Given the description of an element on the screen output the (x, y) to click on. 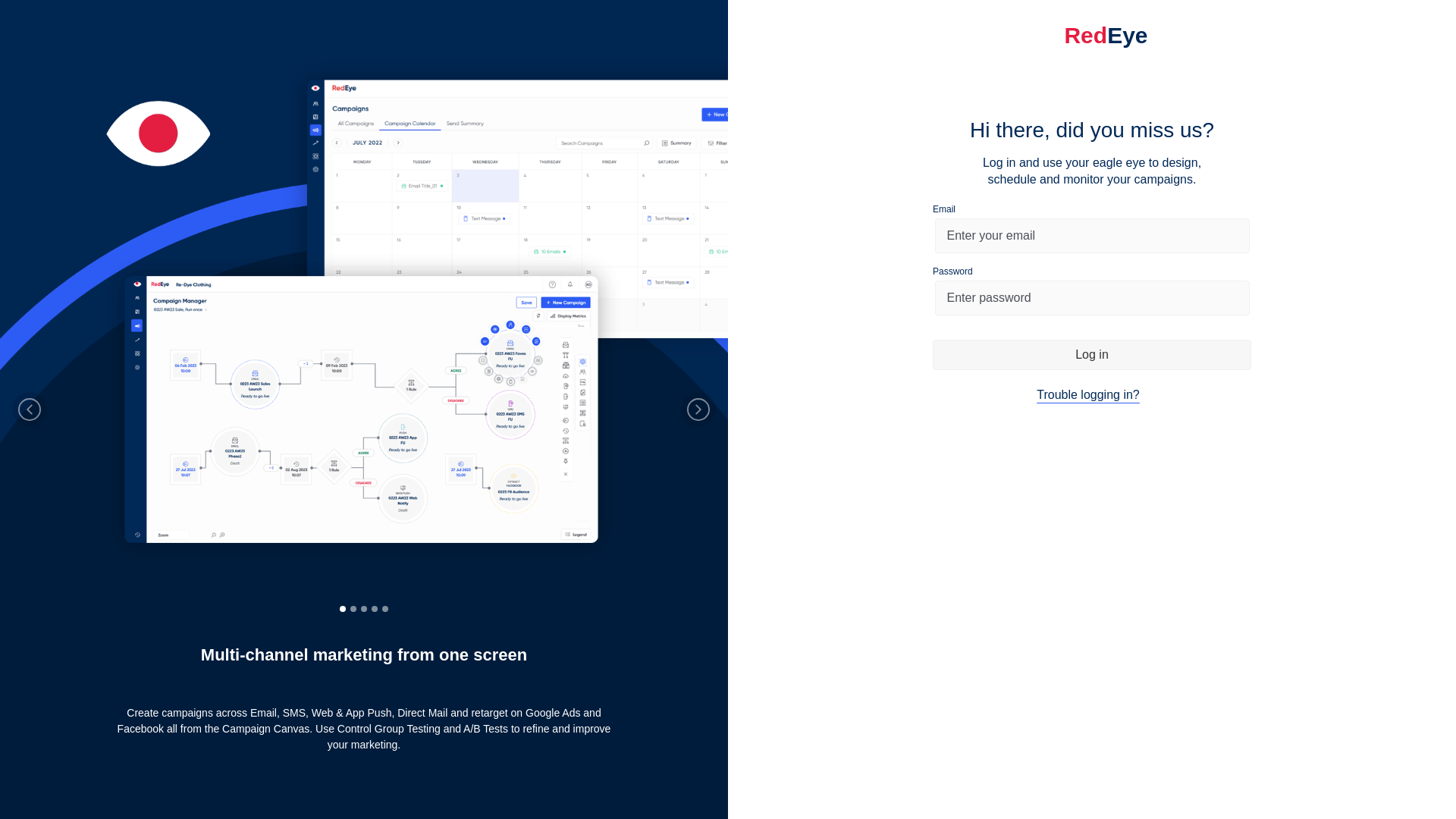
Trouble logging in? (1088, 394)
matomo analytics (1091, 467)
Log in (1091, 354)
